Given the description of an element on the screen output the (x, y) to click on. 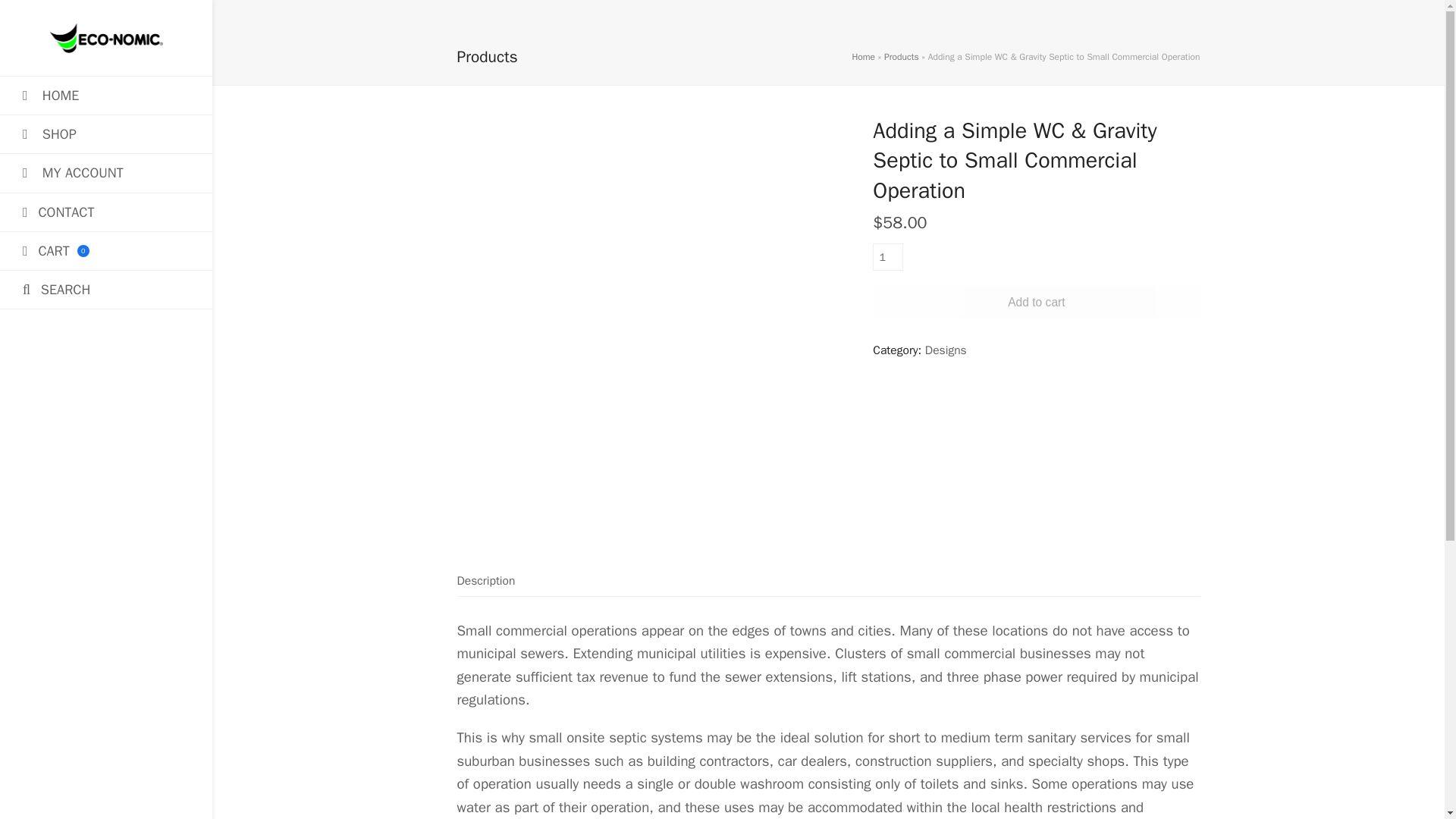
Home (863, 56)
HOME (106, 95)
Add to cart (1035, 301)
SEARCH (106, 289)
SHOP (106, 134)
MY ACCOUNT (106, 172)
Description (486, 580)
CONTACT (106, 211)
Products (900, 56)
Designs (945, 350)
1 (887, 257)
